Given the description of an element on the screen output the (x, y) to click on. 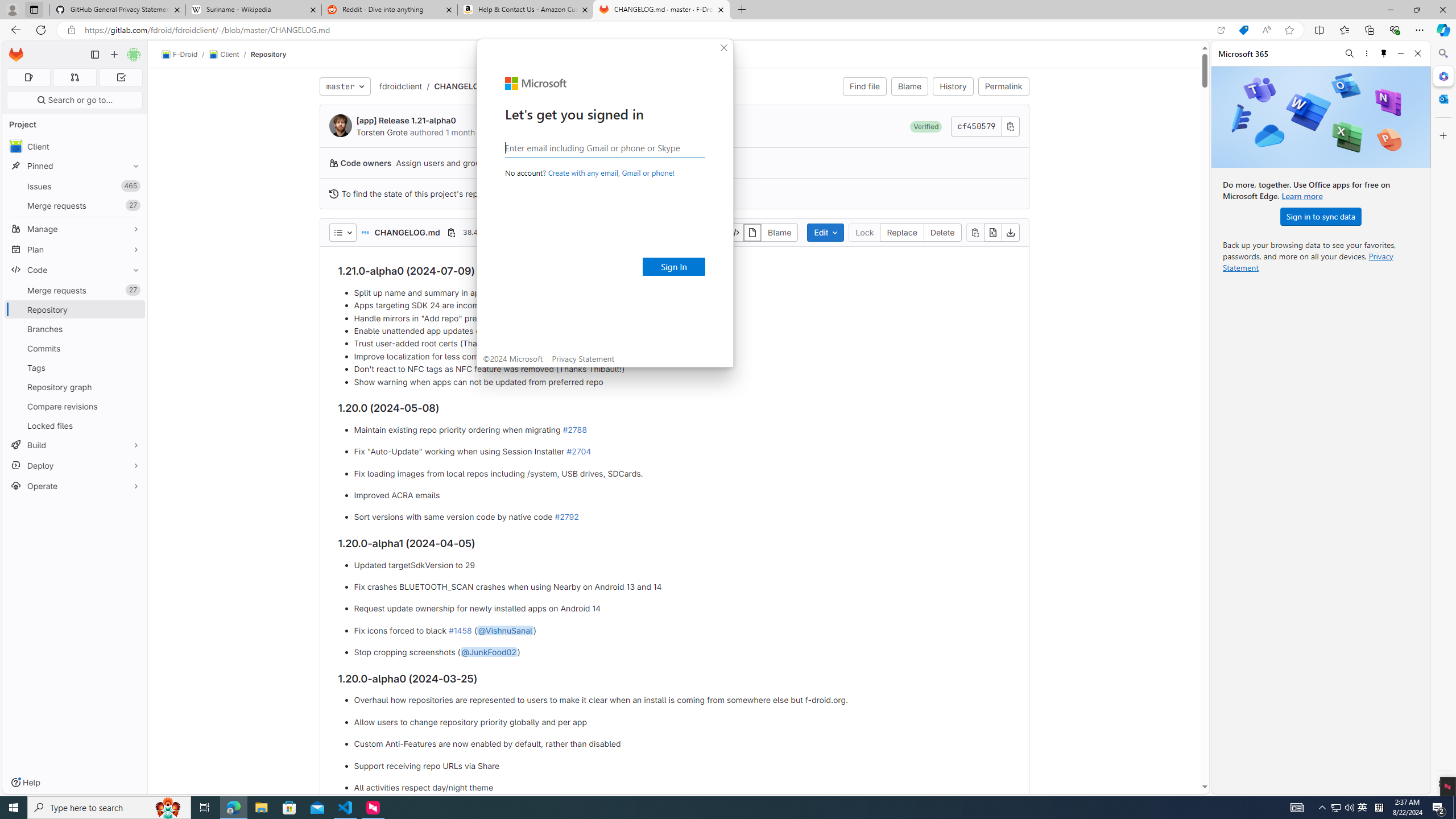
avatar (15, 146)
Class: s16 gl-icon gl-button-icon  (1010, 126)
Download (1010, 232)
Privacy Statement (582, 357)
Suriname - Wikipedia (253, 9)
Replace (901, 232)
Create with any email, Gmail or phone! (611, 172)
Skip to main content (13, 49)
#2704 (578, 451)
Issues465 (74, 185)
fdroidclient (400, 85)
Class: s16 gl-mr-1 gl-align-text-bottom (333, 193)
